Given the description of an element on the screen output the (x, y) to click on. 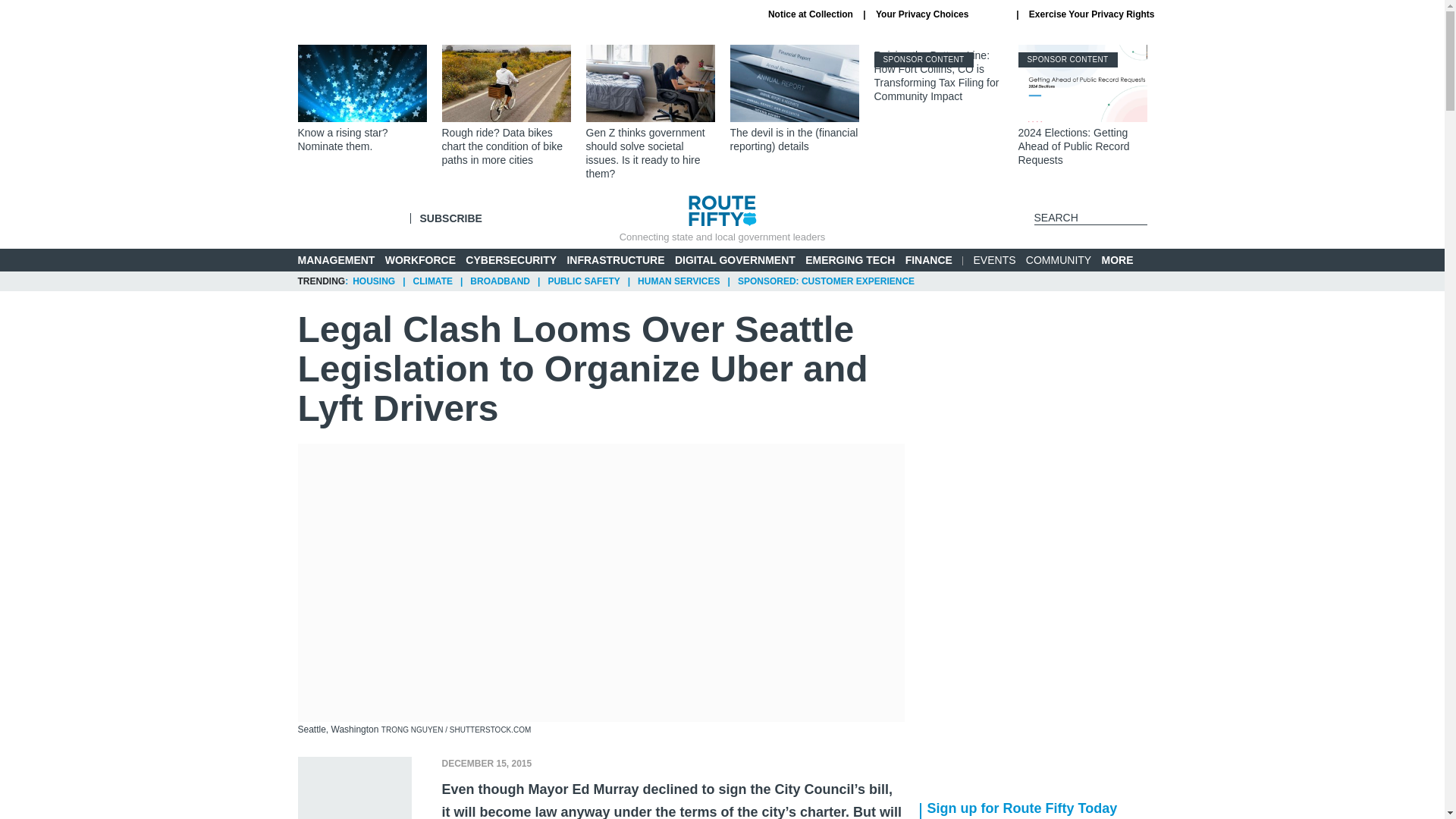
Your Privacy Choices (941, 14)
COMMUNITY (1058, 259)
CYBERSECURITY (510, 259)
Exercise Your Privacy Rights (1091, 14)
MORE (1123, 260)
INFRASTRUCTURE (614, 259)
Know a rising star? Nominate them. (361, 99)
